Given the description of an element on the screen output the (x, y) to click on. 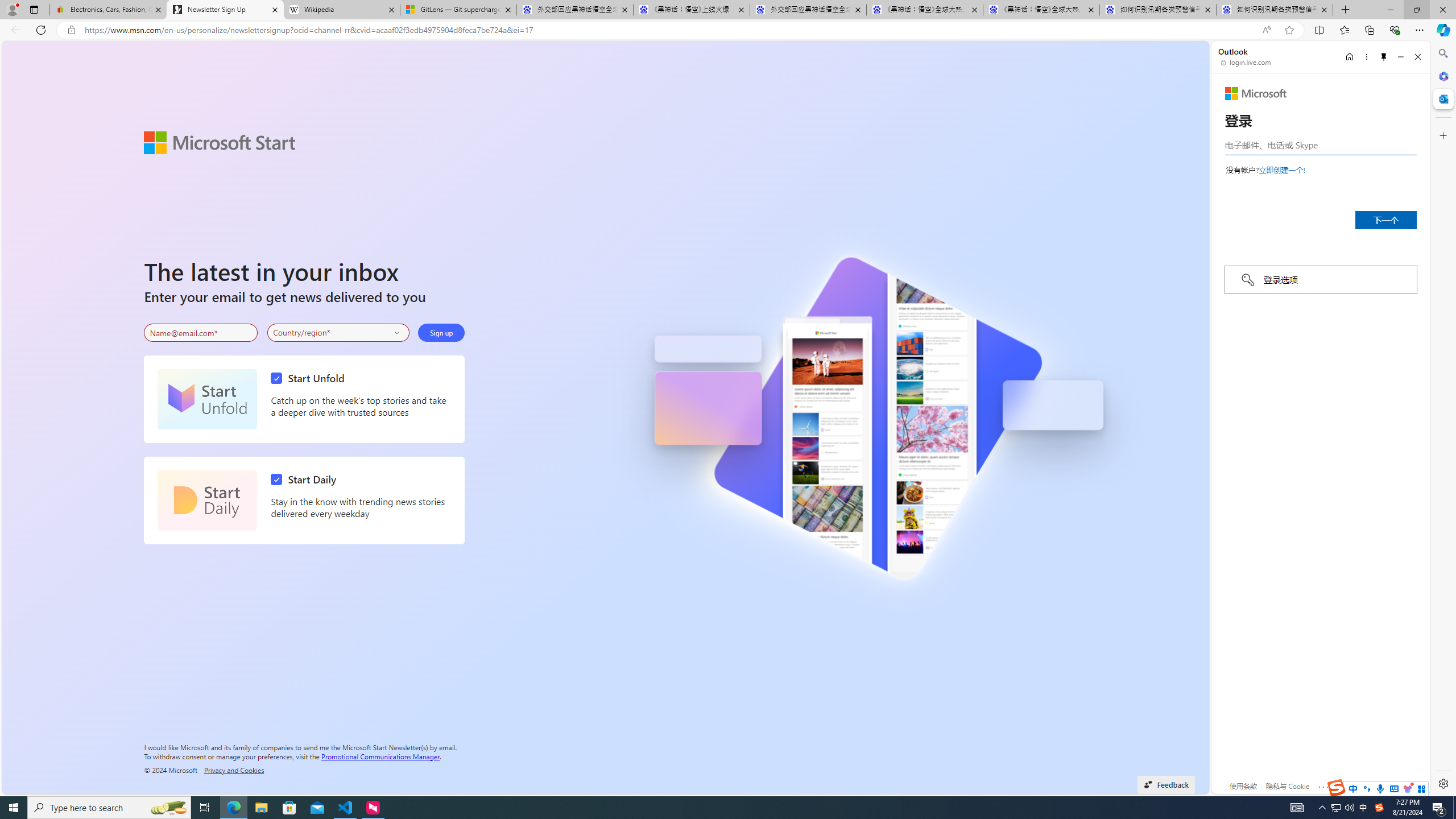
Privacy and Cookies (233, 769)
Start Unfold (207, 399)
Start Daily (207, 500)
Enter your email (200, 332)
Start Unfold (310, 378)
